Given the description of an element on the screen output the (x, y) to click on. 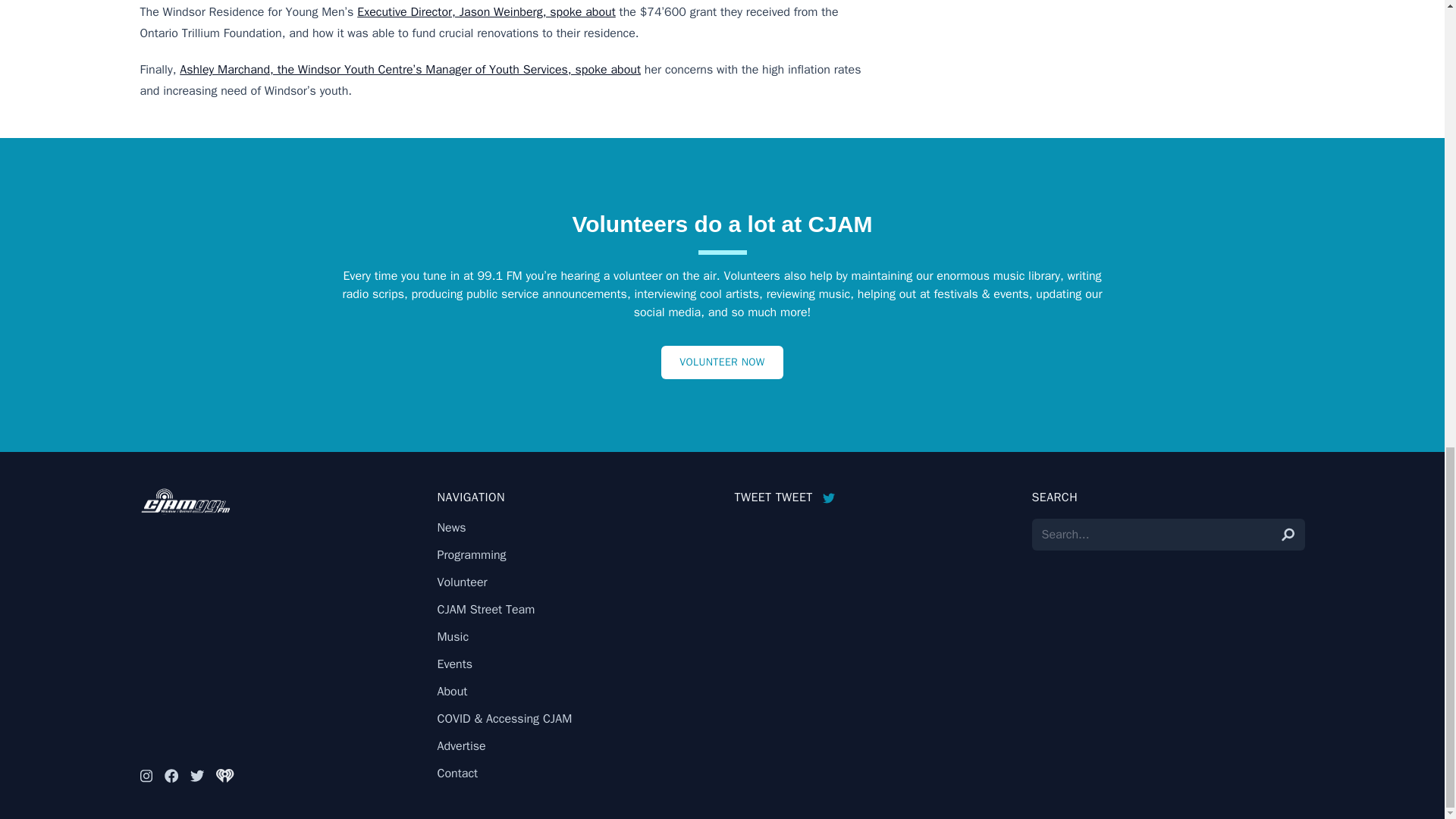
Executive Director, Jason Weinberg, spoke about (485, 11)
